Given the description of an element on the screen output the (x, y) to click on. 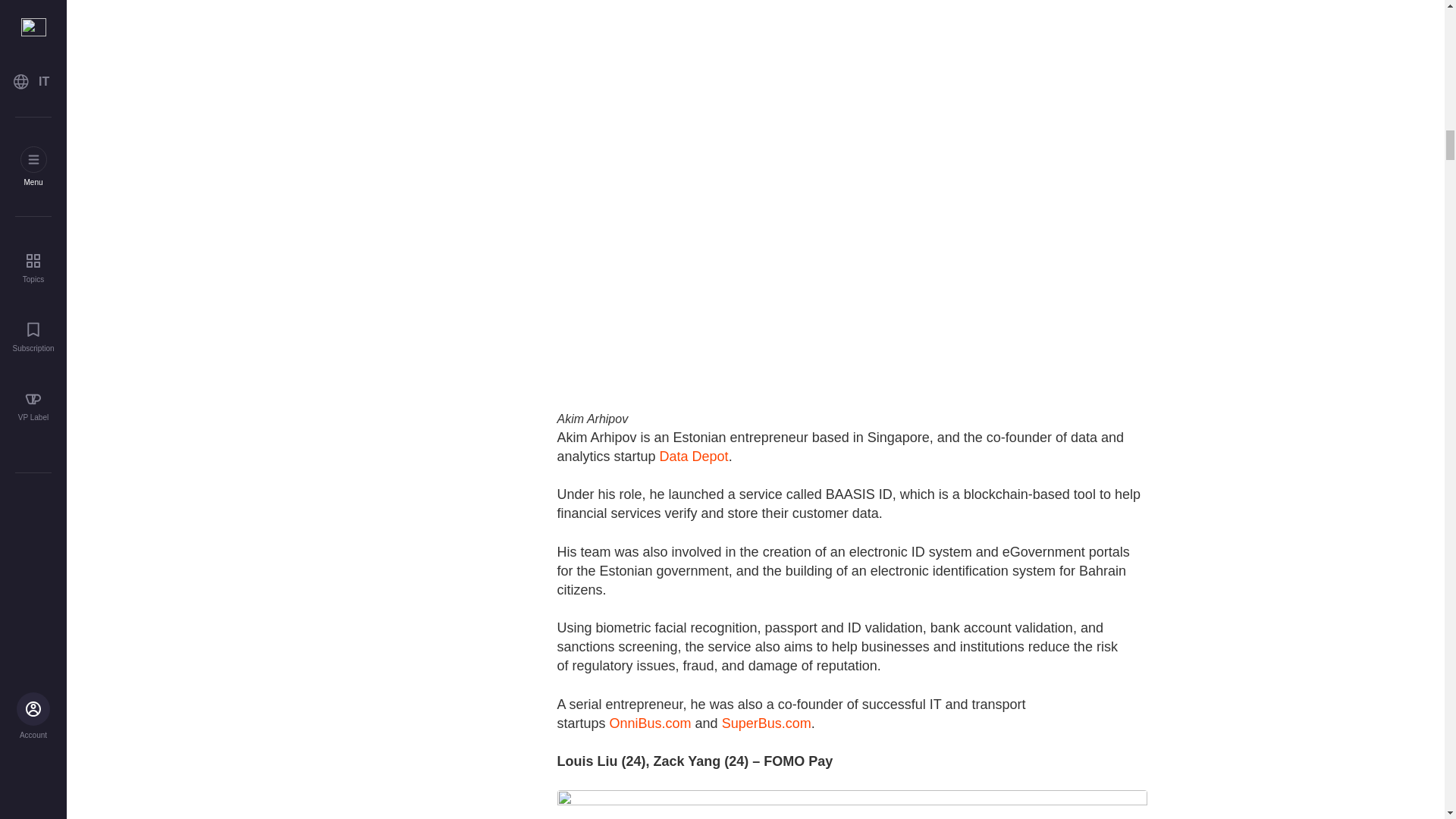
OnniBus.com (650, 723)
SuperBus.com (766, 723)
Data Depot (694, 456)
